Given the description of an element on the screen output the (x, y) to click on. 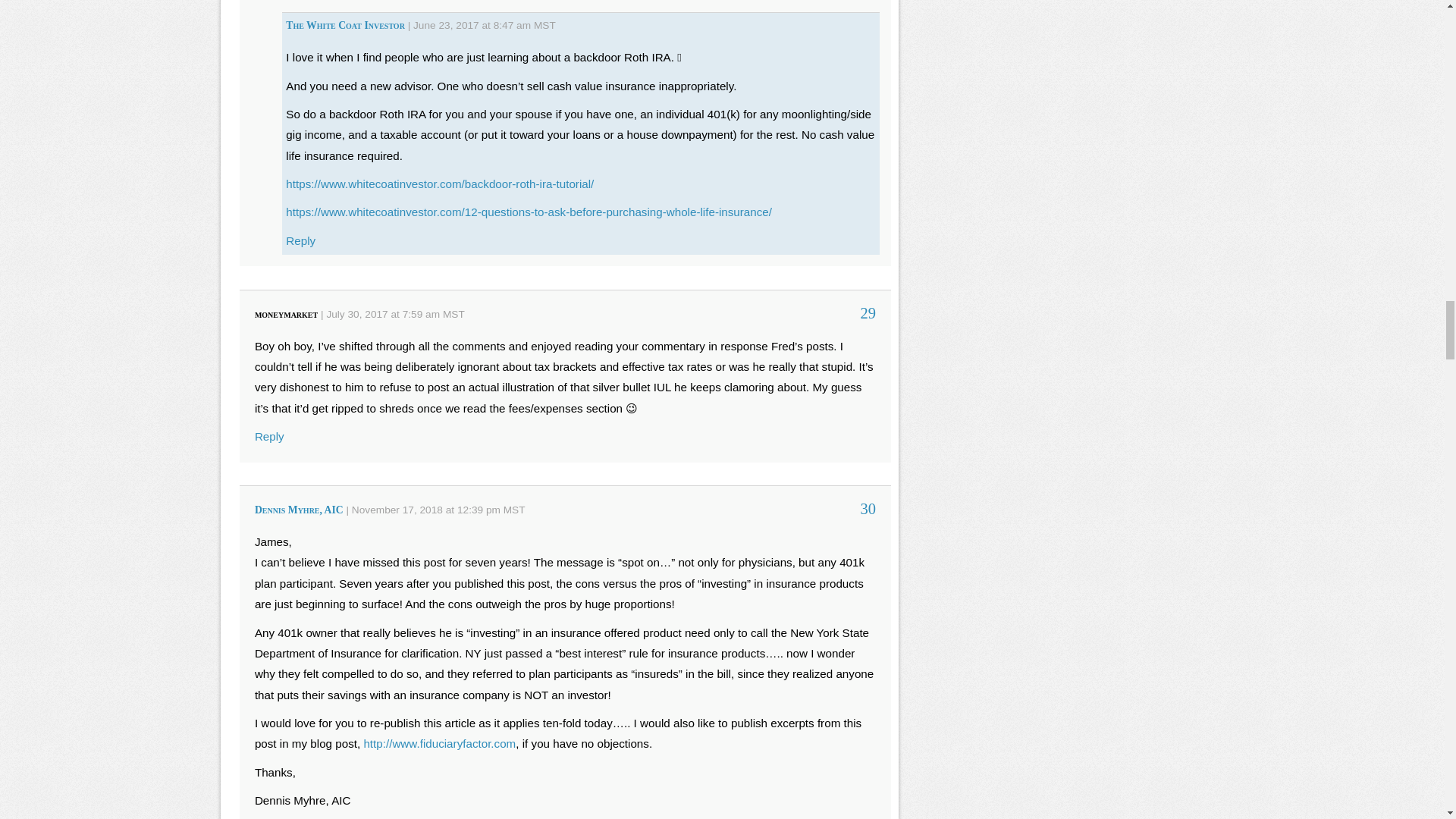
Mountain Standard Time (453, 314)
Mountain Standard Time (514, 509)
Mountain Standard Time (545, 25)
